Given the description of an element on the screen output the (x, y) to click on. 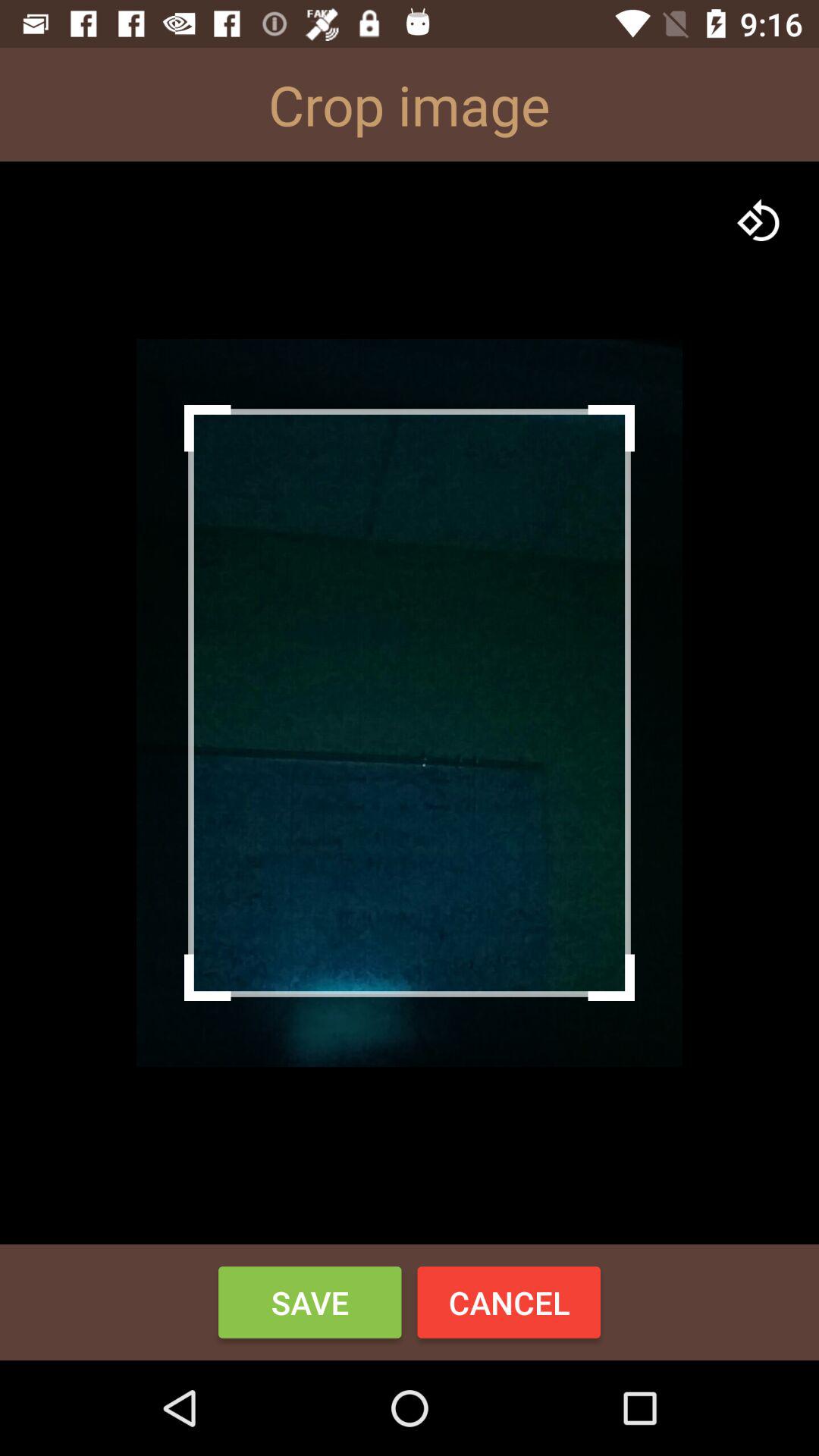
press button next to save button (508, 1302)
